Given the description of an element on the screen output the (x, y) to click on. 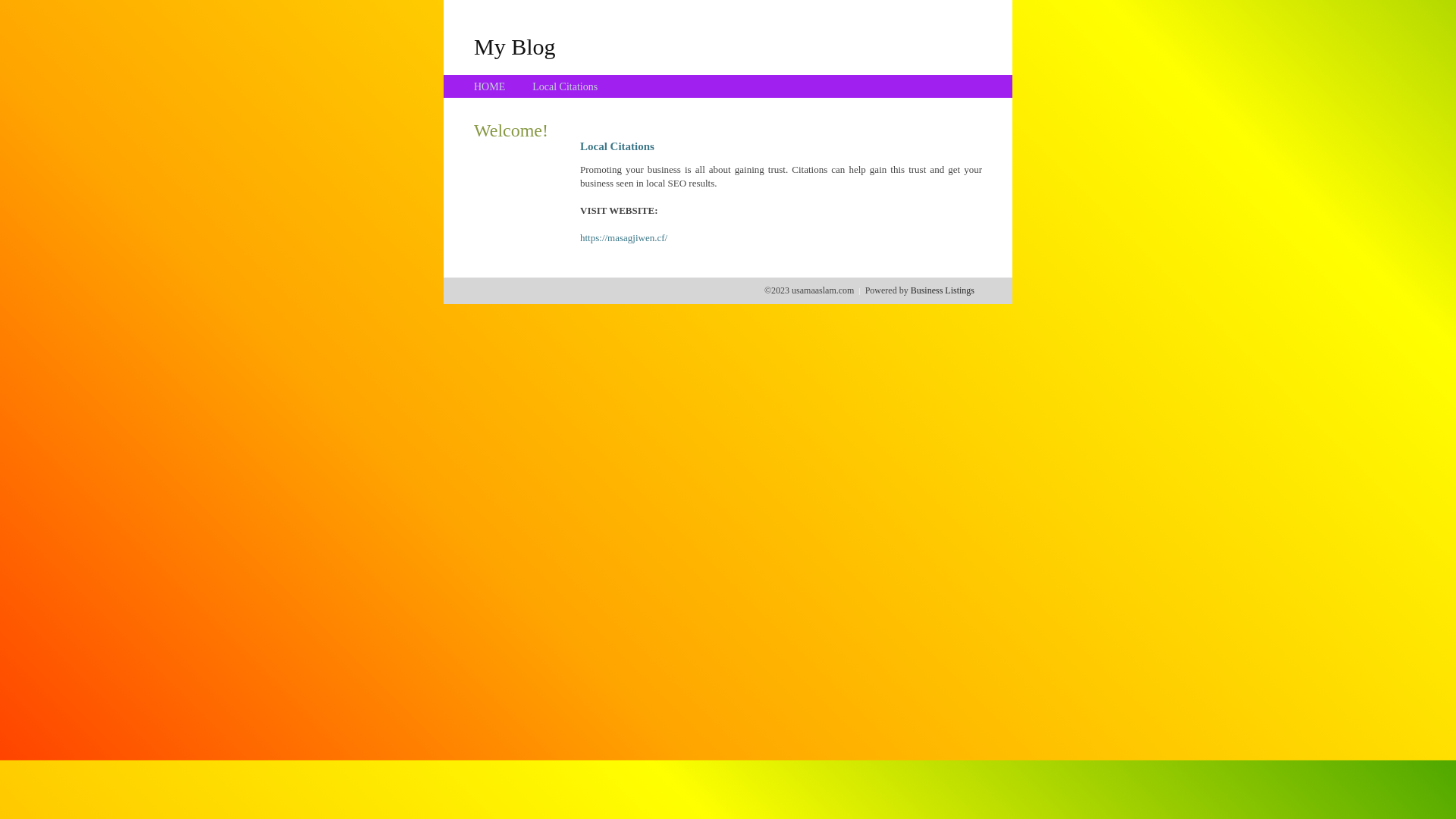
HOME Element type: text (489, 86)
Local Citations Element type: text (564, 86)
https://masagjiwen.cf/ Element type: text (623, 237)
Business Listings Element type: text (942, 290)
My Blog Element type: text (514, 46)
